Given the description of an element on the screen output the (x, y) to click on. 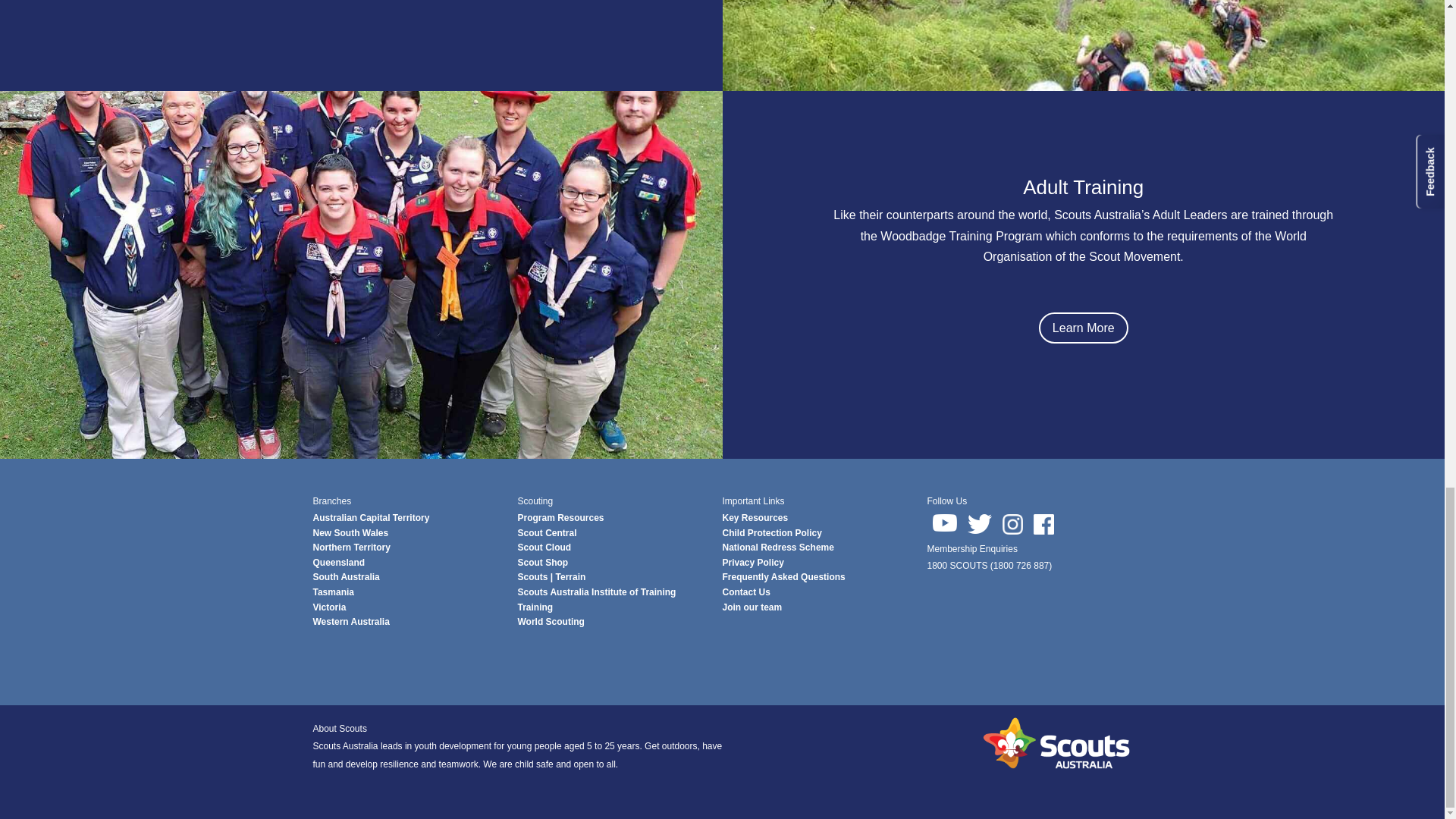
South Australia (345, 576)
Program Resources (560, 517)
Queensland (339, 562)
Western Australia (350, 621)
Tasmania (333, 592)
New South Wales (350, 532)
Scout Central (546, 532)
Learn More (1083, 327)
Australian Capital Territory (371, 517)
Victoria (329, 606)
Northern Territory (351, 547)
